Given the description of an element on the screen output the (x, y) to click on. 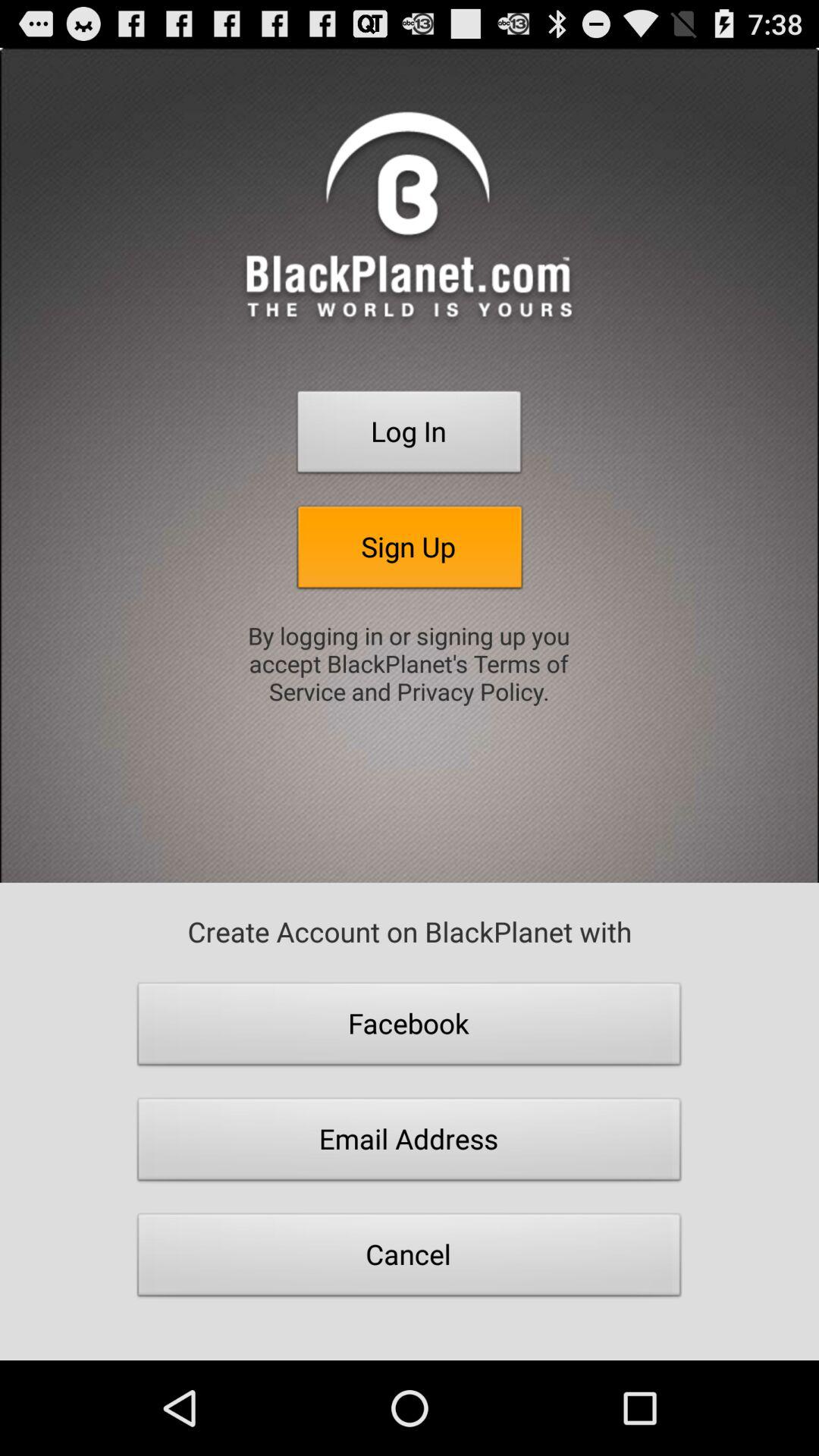
turn on the log in item (409, 436)
